Given the description of an element on the screen output the (x, y) to click on. 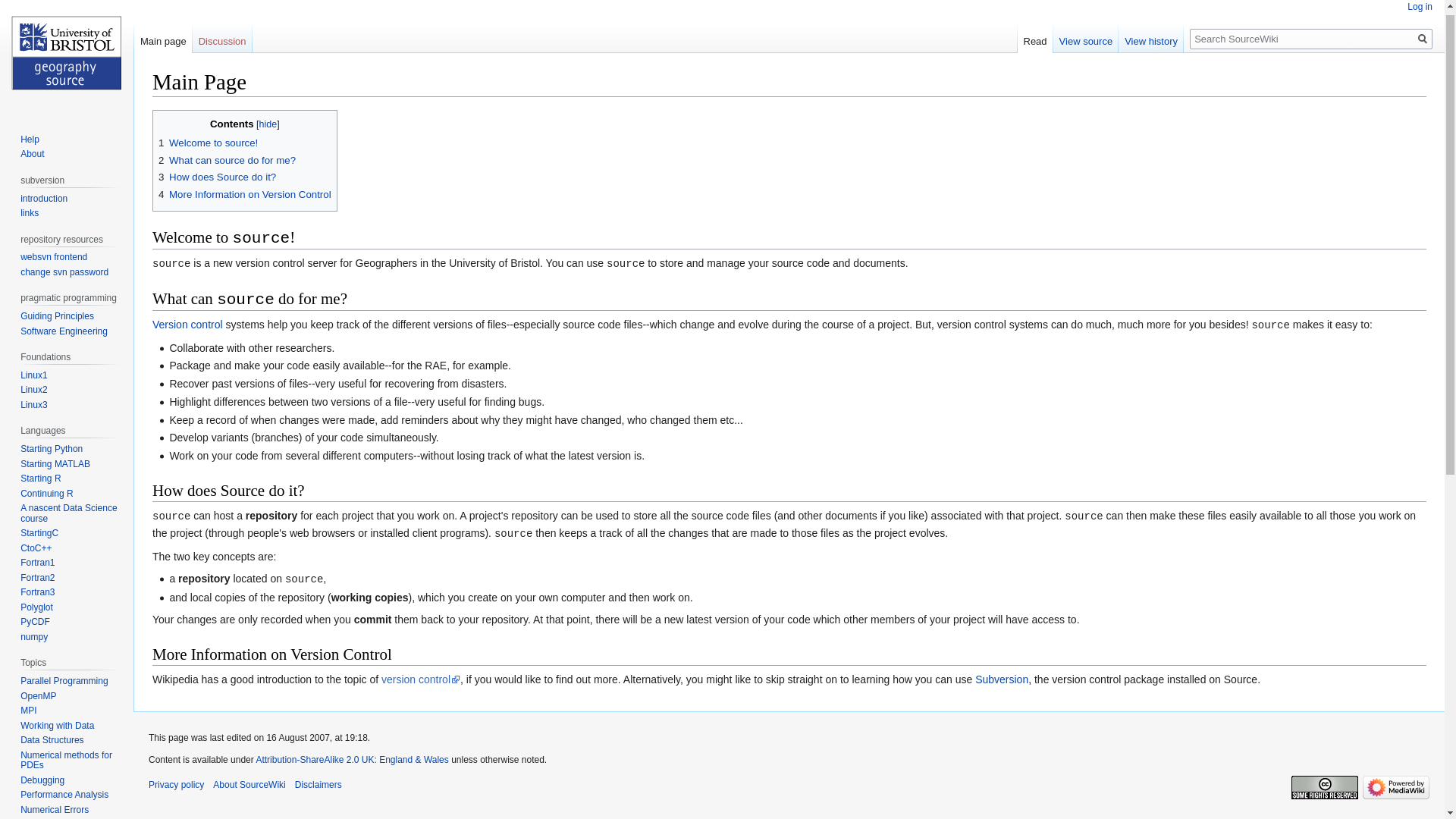
Log in (1419, 6)
StartingC (39, 532)
Visit the main page (66, 56)
Linux3 (33, 404)
Continuing R (46, 493)
View source (1085, 37)
version control (420, 679)
Version control (187, 324)
Main page (162, 37)
Software Engineering (63, 330)
